Given the description of an element on the screen output the (x, y) to click on. 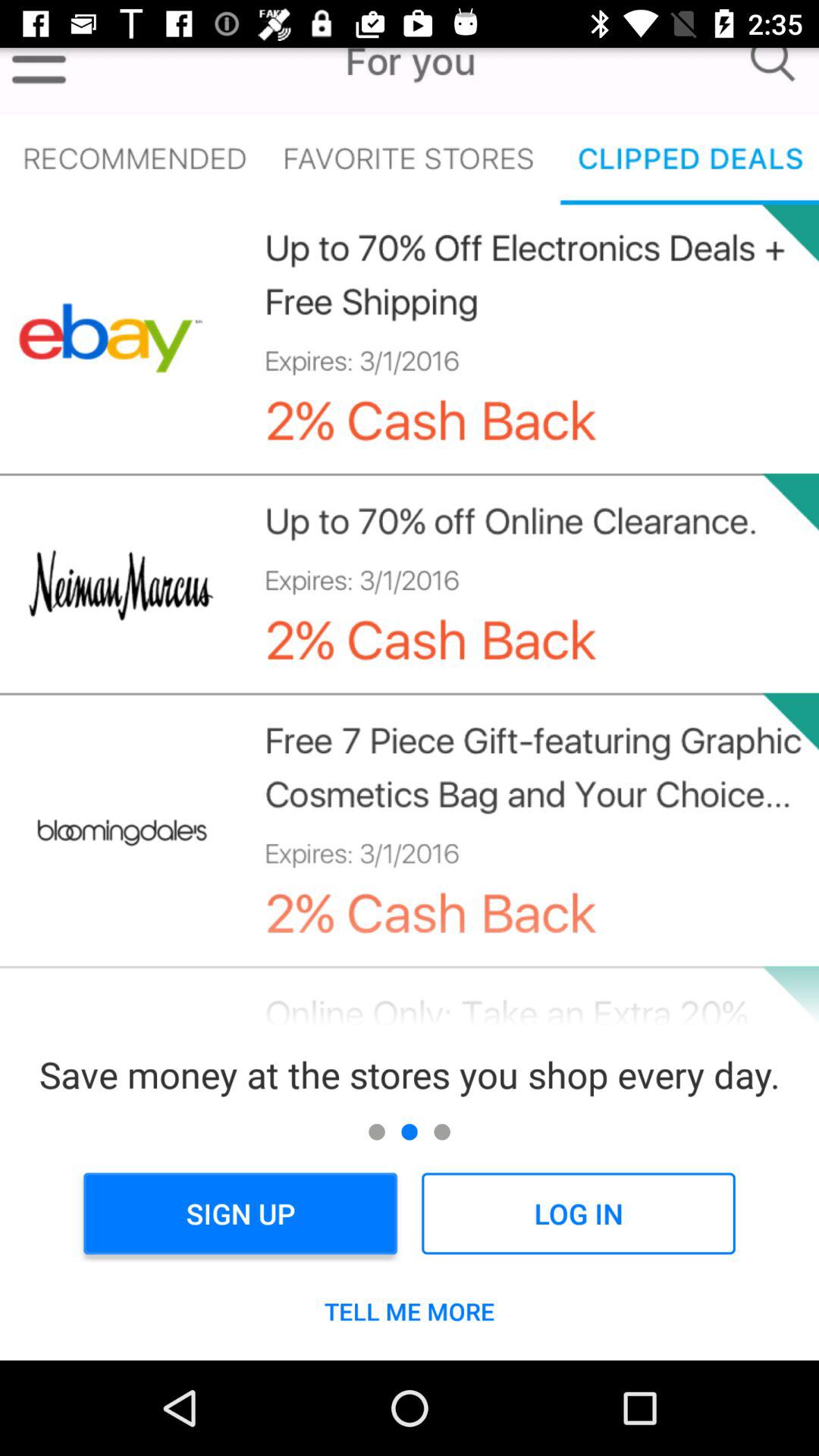
click tell me more (409, 1311)
